Given the description of an element on the screen output the (x, y) to click on. 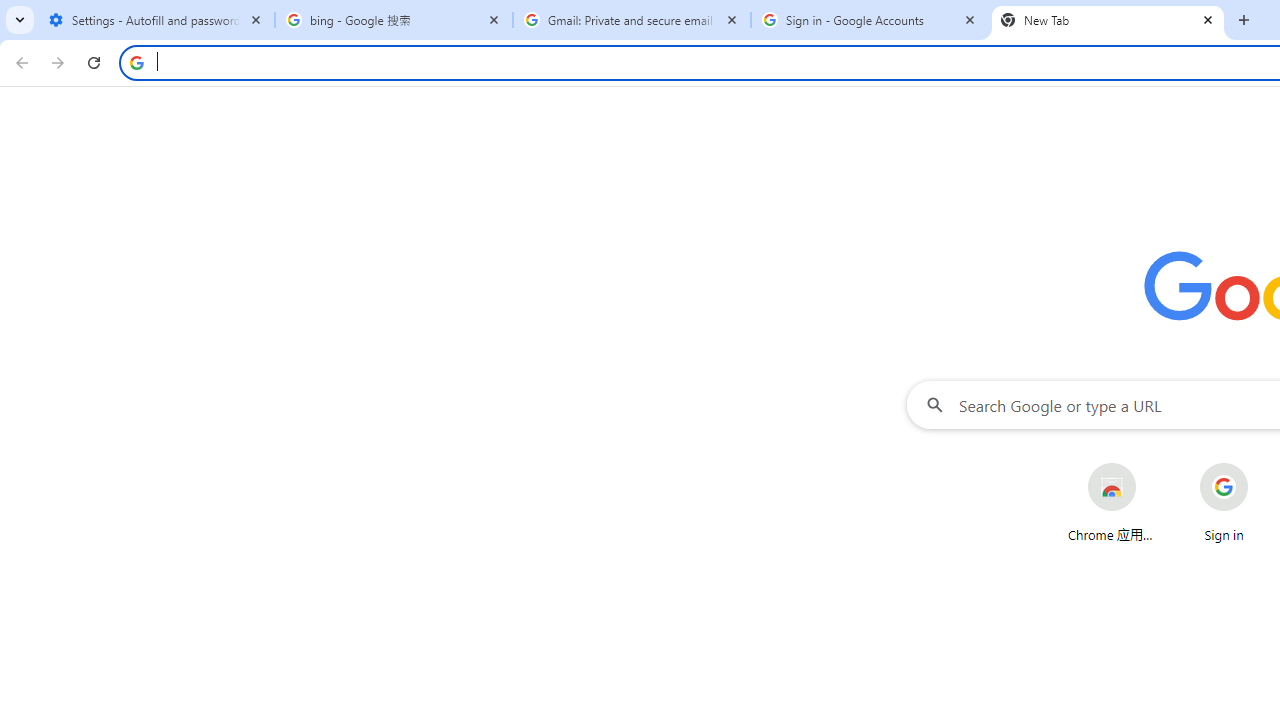
Sign in - Google Accounts (870, 20)
New Tab (1108, 20)
More actions for Sign in shortcut (1263, 464)
